Given the description of an element on the screen output the (x, y) to click on. 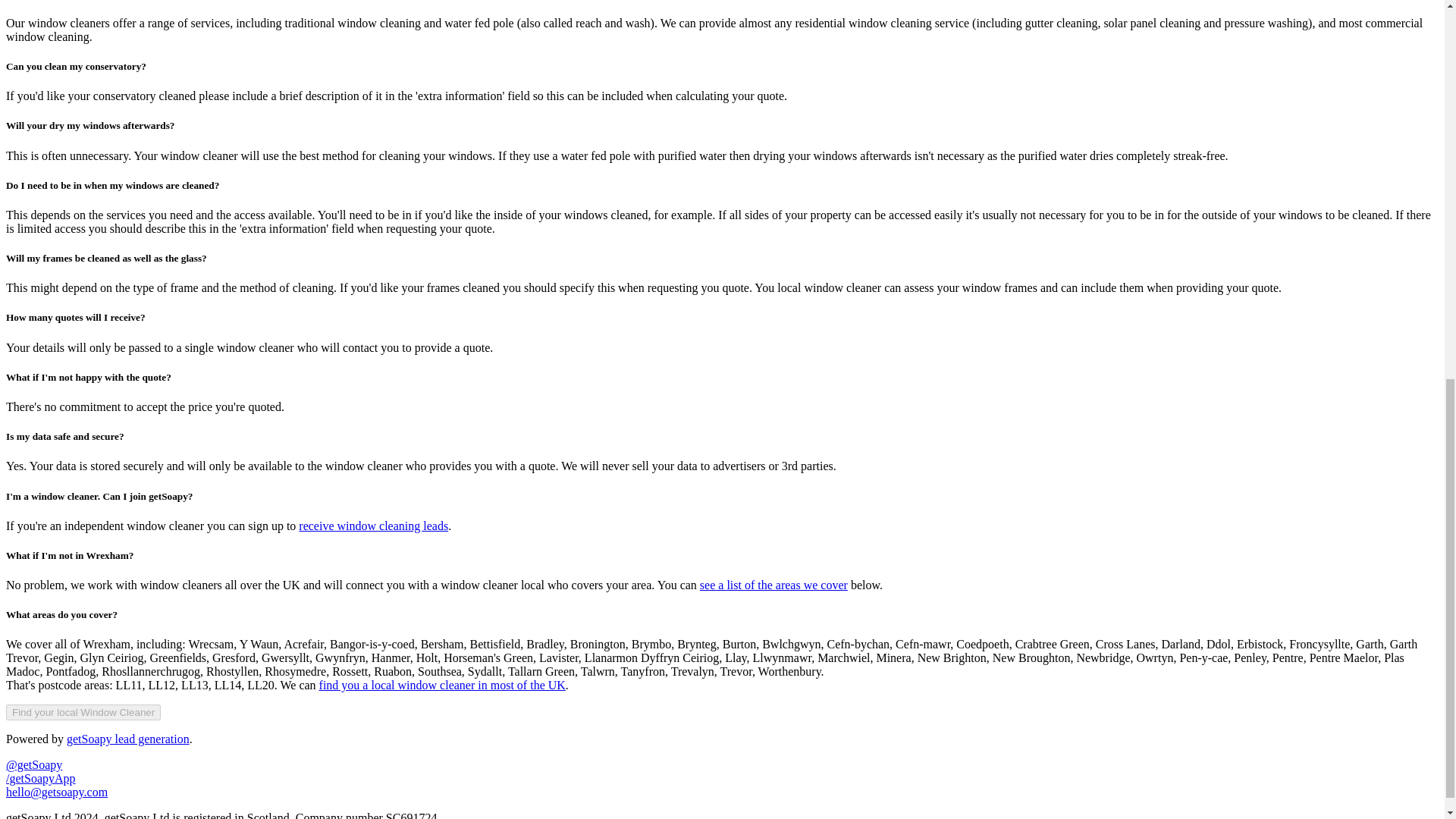
find you a local window cleaner in most of the UK (442, 684)
see a list of the areas we cover (773, 584)
receive window cleaning leads (373, 525)
getSoapy lead generation (127, 738)
Find your local Window Cleaner (82, 712)
